Given the description of an element on the screen output the (x, y) to click on. 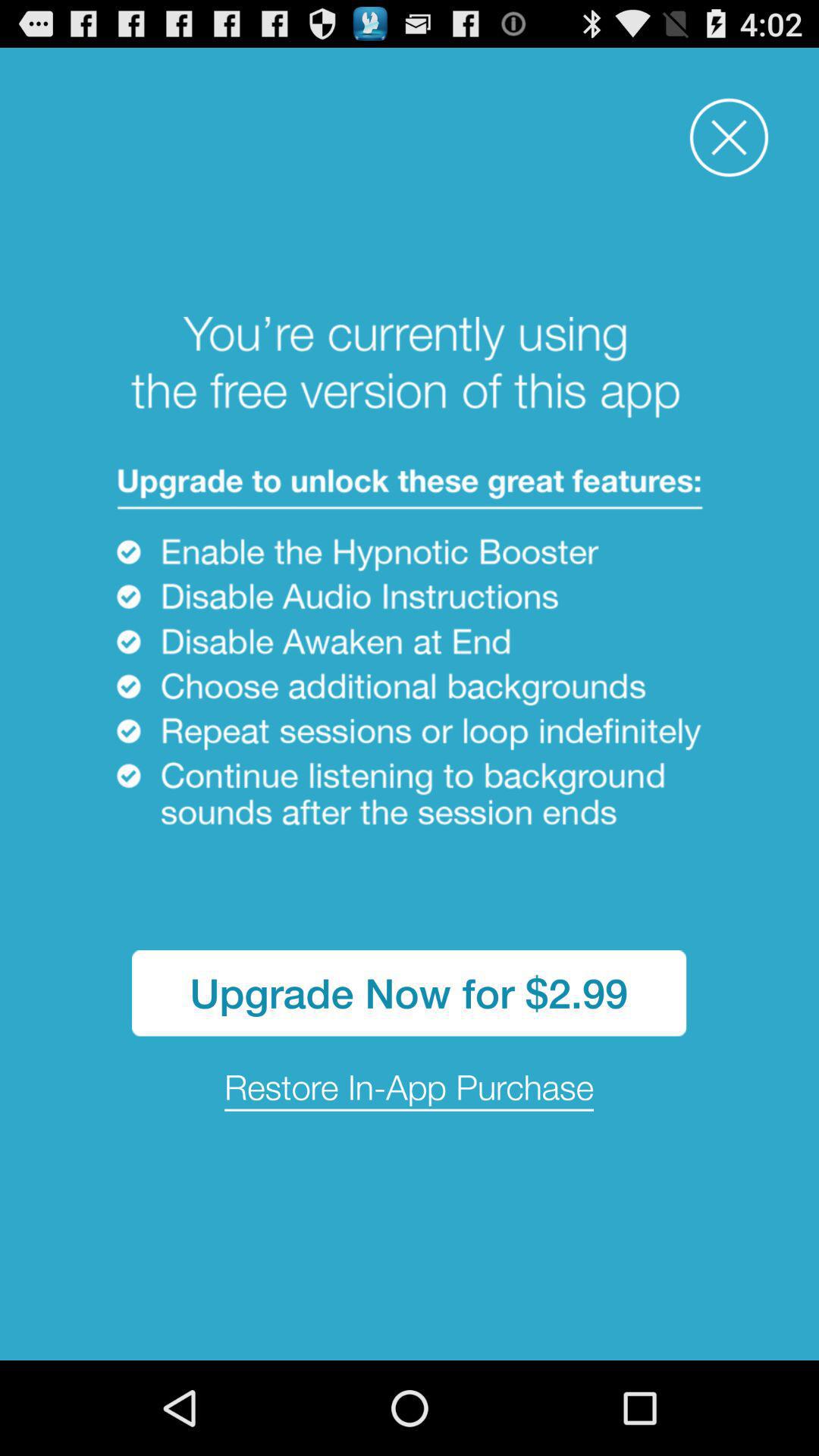
launch restore in app icon (408, 1088)
